Given the description of an element on the screen output the (x, y) to click on. 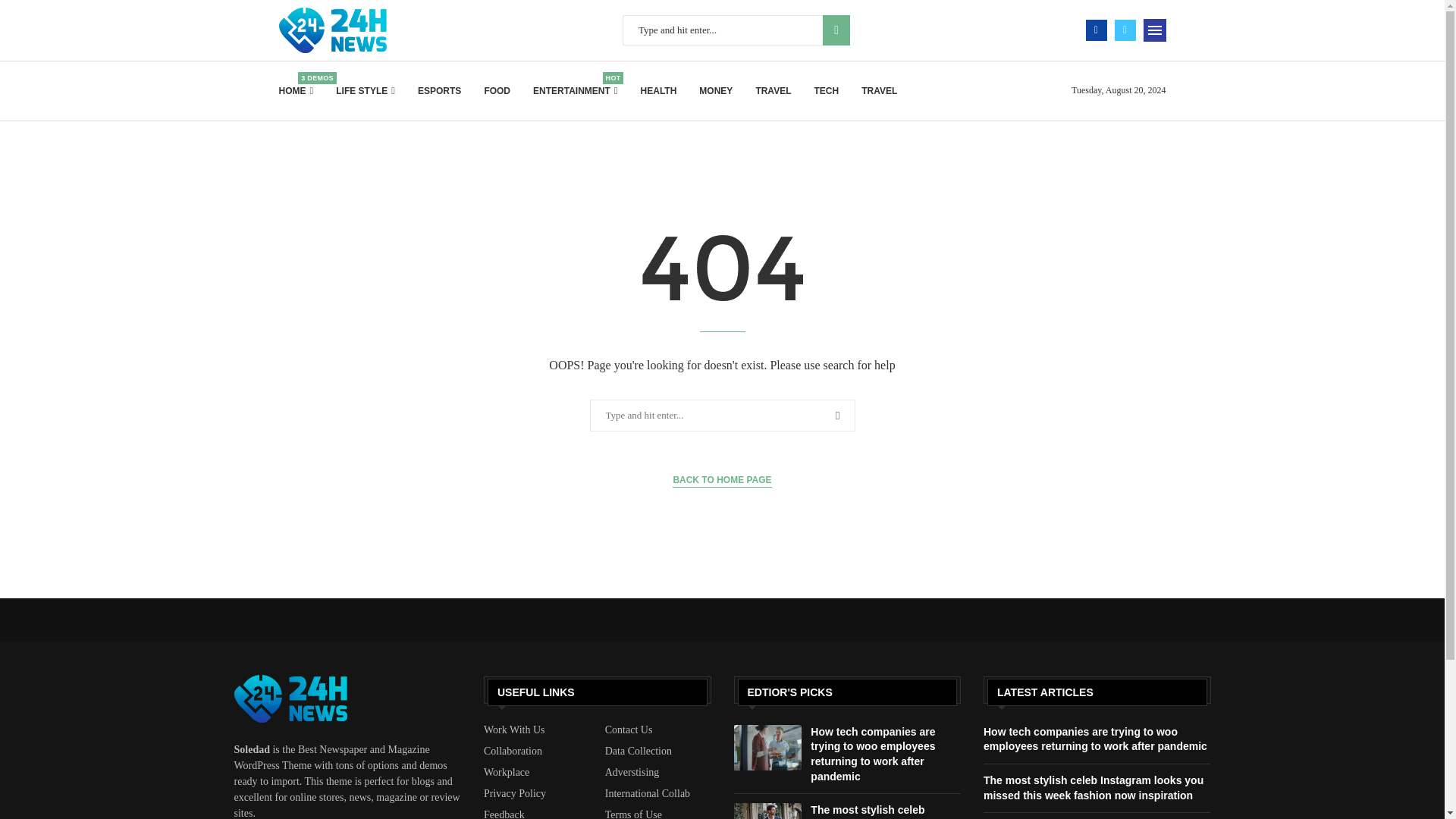
ESPORTS (439, 90)
SEARCH (574, 90)
LIFE STYLE (836, 30)
